Given the description of an element on the screen output the (x, y) to click on. 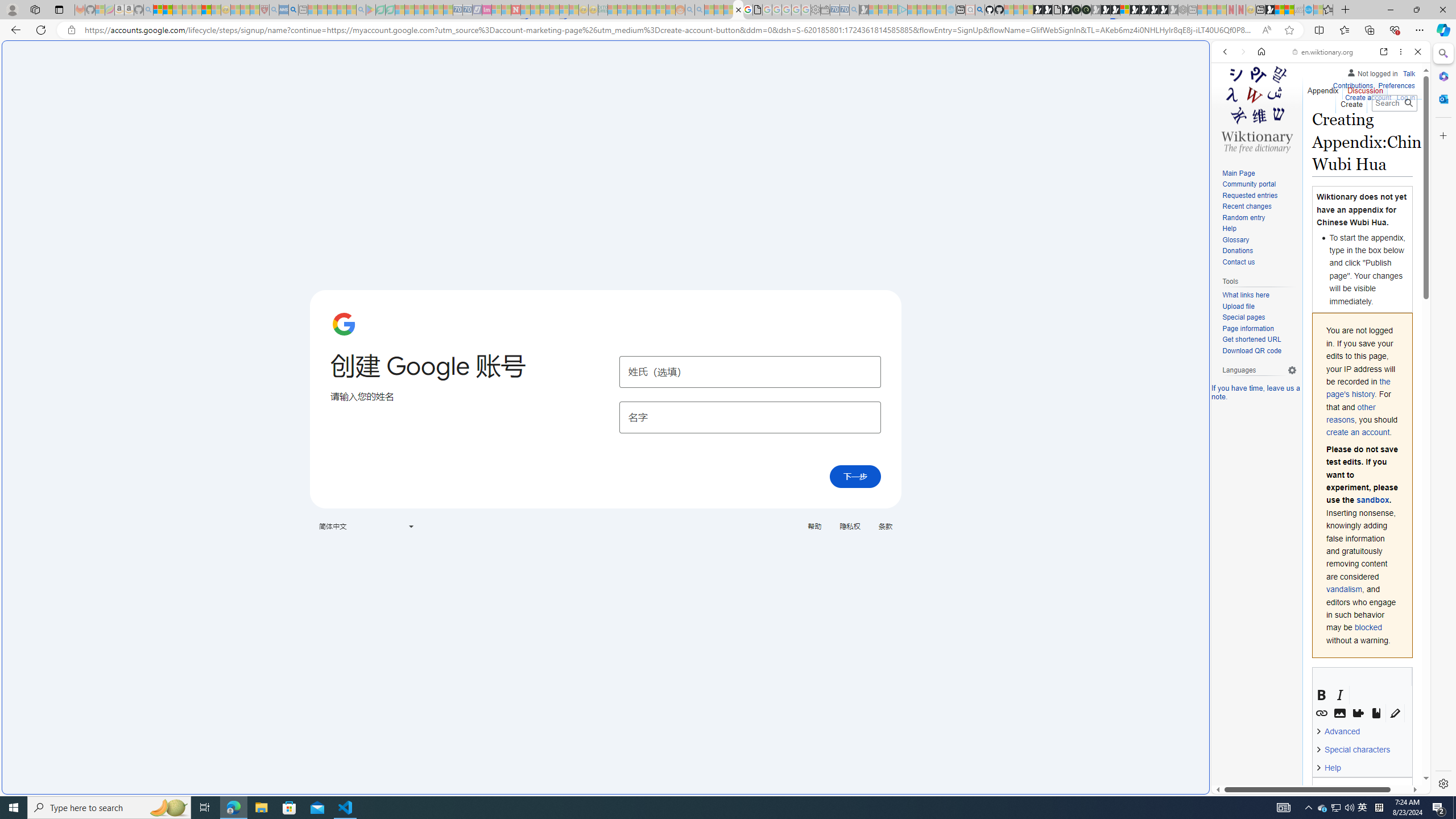
Create (1351, 101)
Contact us (1238, 261)
Sign in to your account (1124, 9)
Frequently visited (965, 151)
What links here (1245, 295)
